Given the description of an element on the screen output the (x, y) to click on. 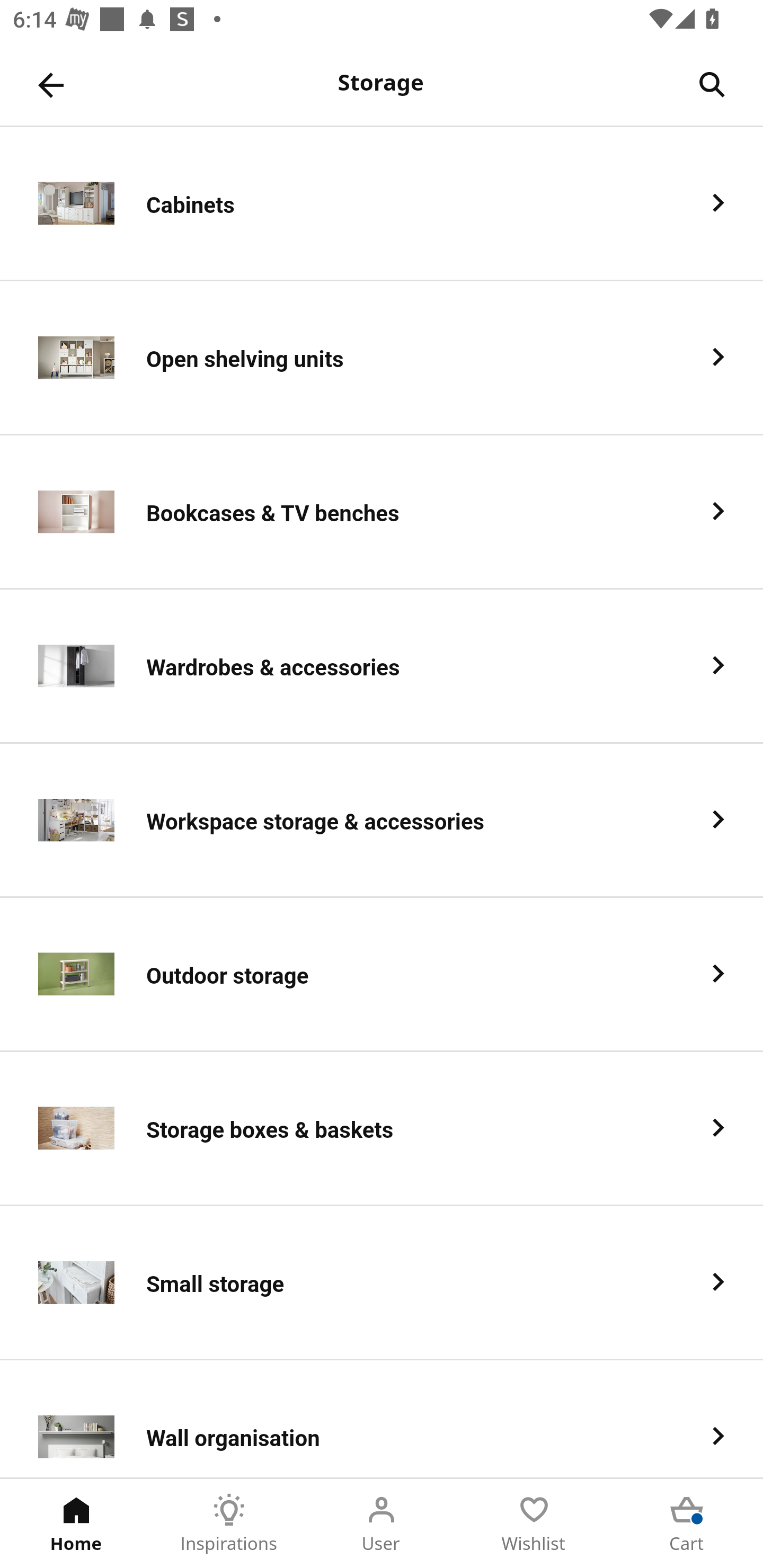
Cabinets (381, 203)
Open shelving units (381, 357)
Bookcases & TV benches (381, 512)
Wardrobes & accessories  (381, 666)
Workspace storage & accessories (381, 820)
Outdoor storage (381, 975)
Storage boxes & baskets (381, 1128)
Small storage (381, 1283)
Wall organisation (381, 1419)
Home
Tab 1 of 5 (76, 1522)
Inspirations
Tab 2 of 5 (228, 1522)
User
Tab 3 of 5 (381, 1522)
Wishlist
Tab 4 of 5 (533, 1522)
Cart
Tab 5 of 5 (686, 1522)
